Given the description of an element on the screen output the (x, y) to click on. 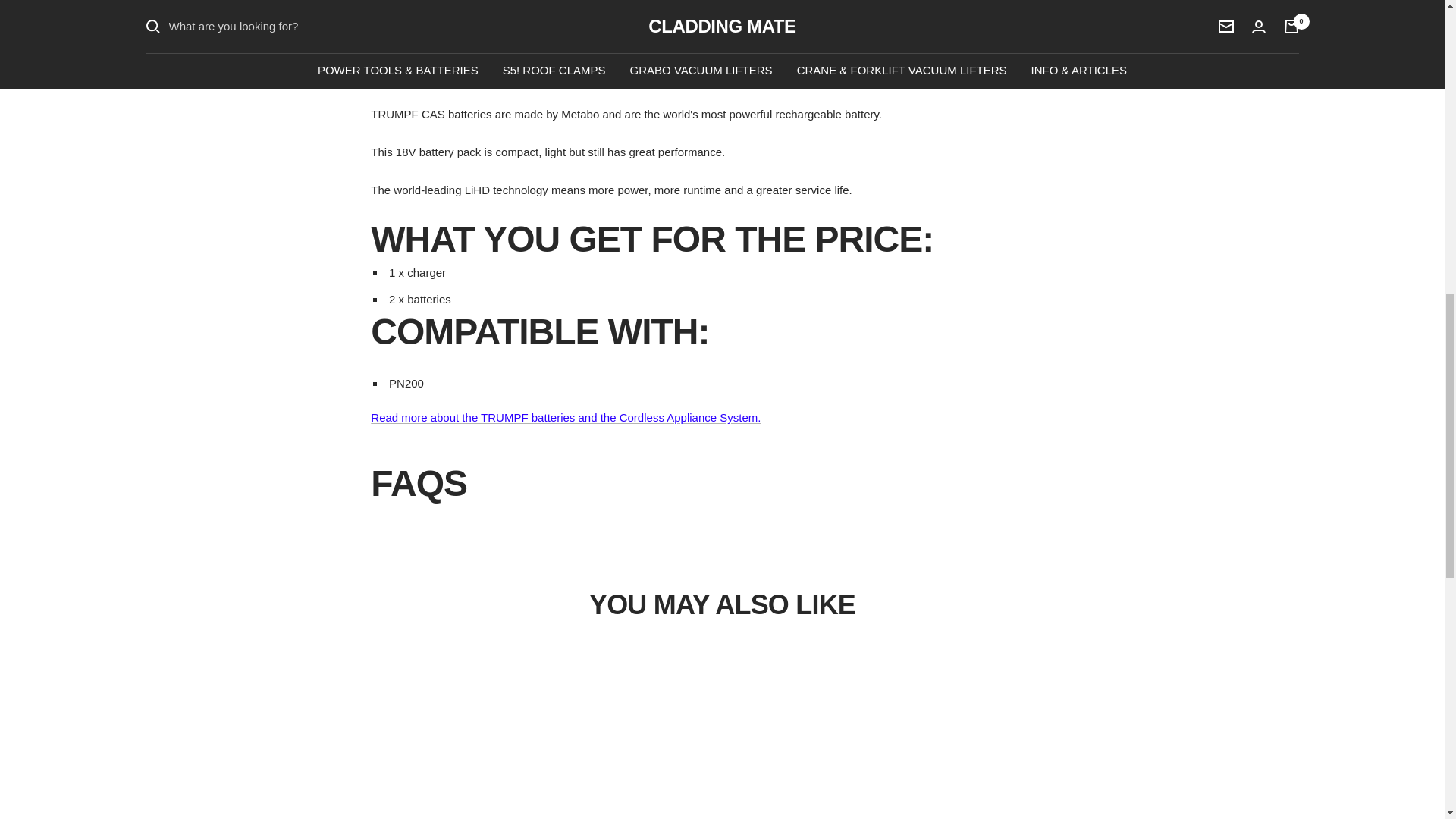
TRUMPF batteries and CAS (565, 417)
